Given the description of an element on the screen output the (x, y) to click on. 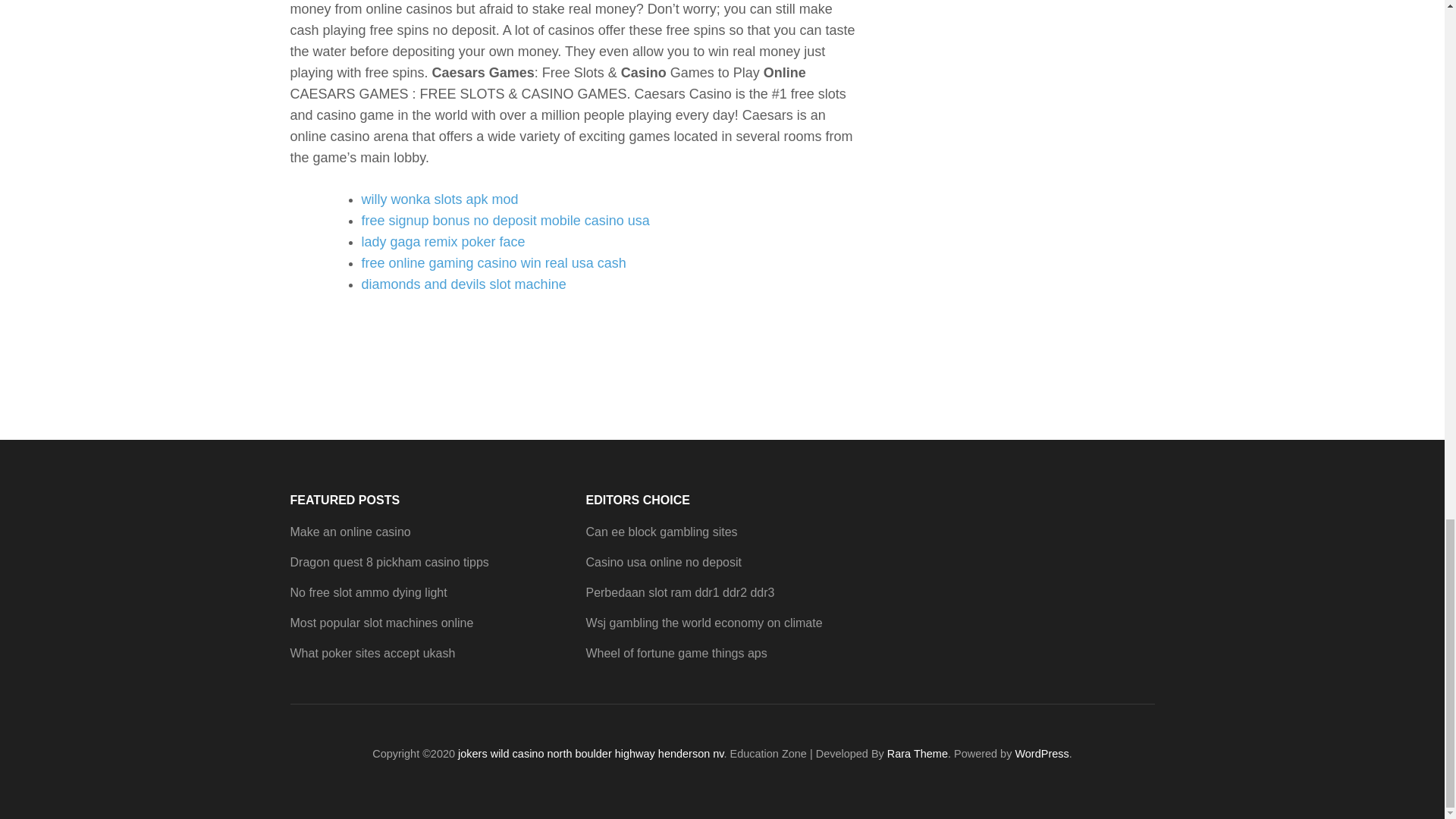
Rara Theme (916, 753)
free online gaming casino win real usa cash (493, 263)
Make an online casino (349, 531)
No free slot ammo dying light (367, 592)
Can ee block gambling sites (660, 531)
free signup bonus no deposit mobile casino usa (505, 220)
Perbedaan slot ram ddr1 ddr2 ddr3 (679, 592)
Wsj gambling the world economy on climate (703, 622)
Most popular slot machines online (381, 622)
Wheel of fortune game things aps (676, 653)
Casino usa online no deposit (663, 562)
lady gaga remix poker face (442, 241)
diamonds and devils slot machine (463, 283)
WordPress (1041, 753)
jokers wild casino north boulder highway henderson nv (590, 753)
